Given the description of an element on the screen output the (x, y) to click on. 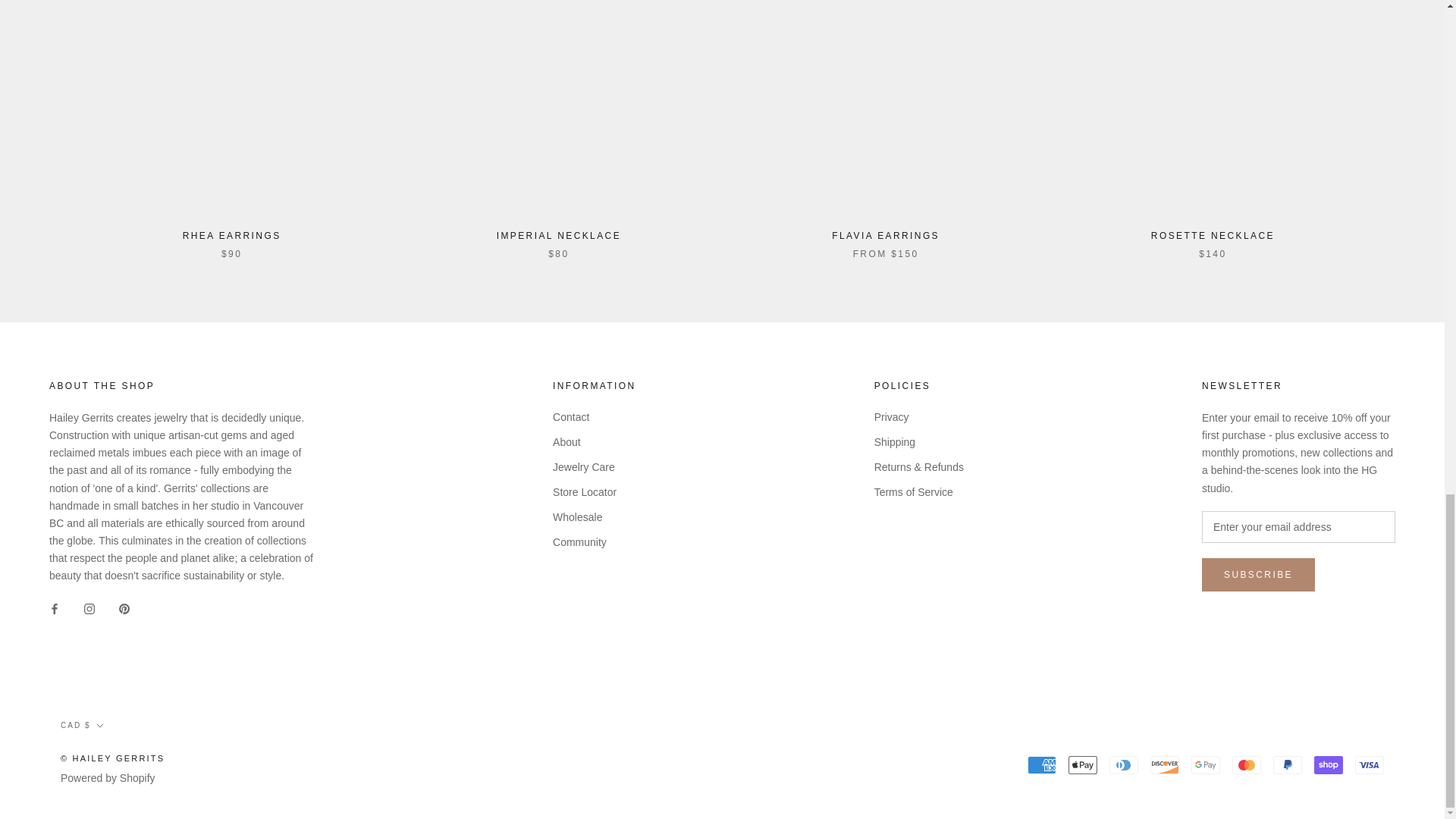
Shop Pay (1328, 764)
Apple Pay (1082, 764)
Mastercard (1245, 764)
Discover (1164, 764)
PayPal (1286, 764)
Google Pay (1205, 764)
American Express (1042, 764)
Diners Club (1123, 764)
